Given the description of an element on the screen output the (x, y) to click on. 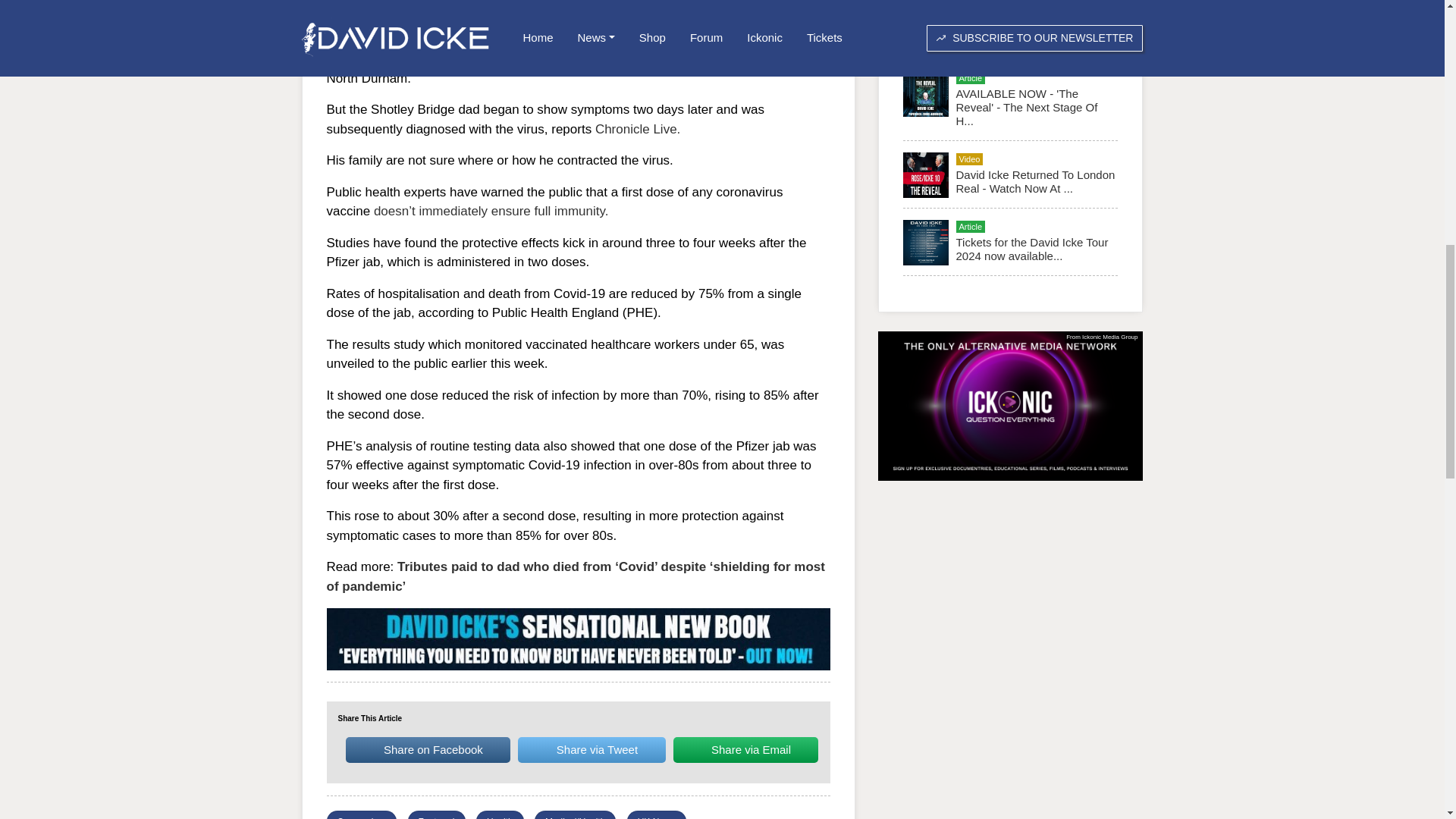
Kier Starmer's UK Budget Warning - David Icke (1019, 32)
Featured (436, 817)
Chronicle Live. (637, 128)
Health (499, 817)
Share via Email (745, 749)
Share via Tweet (591, 749)
Share on Facebook (428, 749)
Coronavirus (360, 817)
